Given the description of an element on the screen output the (x, y) to click on. 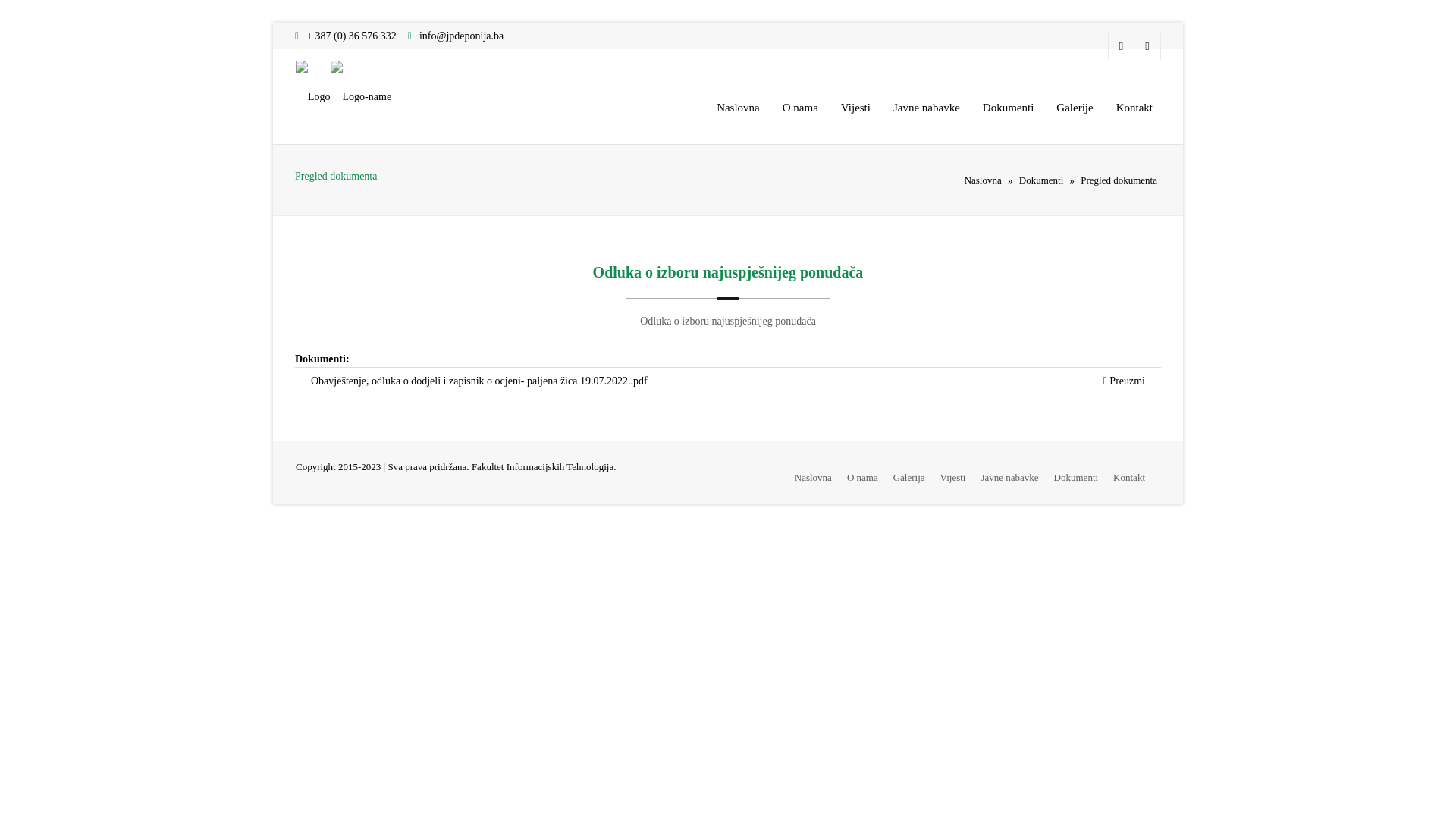
Javne nabavke Element type: text (1009, 477)
Dokumenti Element type: text (1041, 179)
O nama Element type: text (800, 107)
Dokumenti Element type: text (1076, 477)
Galerije Element type: text (1074, 107)
Naslovna Element type: text (982, 179)
E-mail panel Element type: hover (1120, 46)
O nama Element type: text (862, 477)
Naslovna Element type: text (738, 107)
Kontakt Element type: text (1134, 107)
Vijesti Element type: text (855, 107)
Kontakt Element type: text (1129, 477)
Preuzmi Element type: text (1124, 381)
Dokumenti Element type: text (1008, 107)
Administracijski panel Element type: hover (1147, 46)
Vijesti Element type: text (953, 477)
Javne nabavke Element type: text (926, 107)
Naslovna Element type: text (812, 477)
Galerija Element type: text (909, 477)
Fakultet Informacijskih Tehnologija. Element type: text (543, 466)
